Given the description of an element on the screen output the (x, y) to click on. 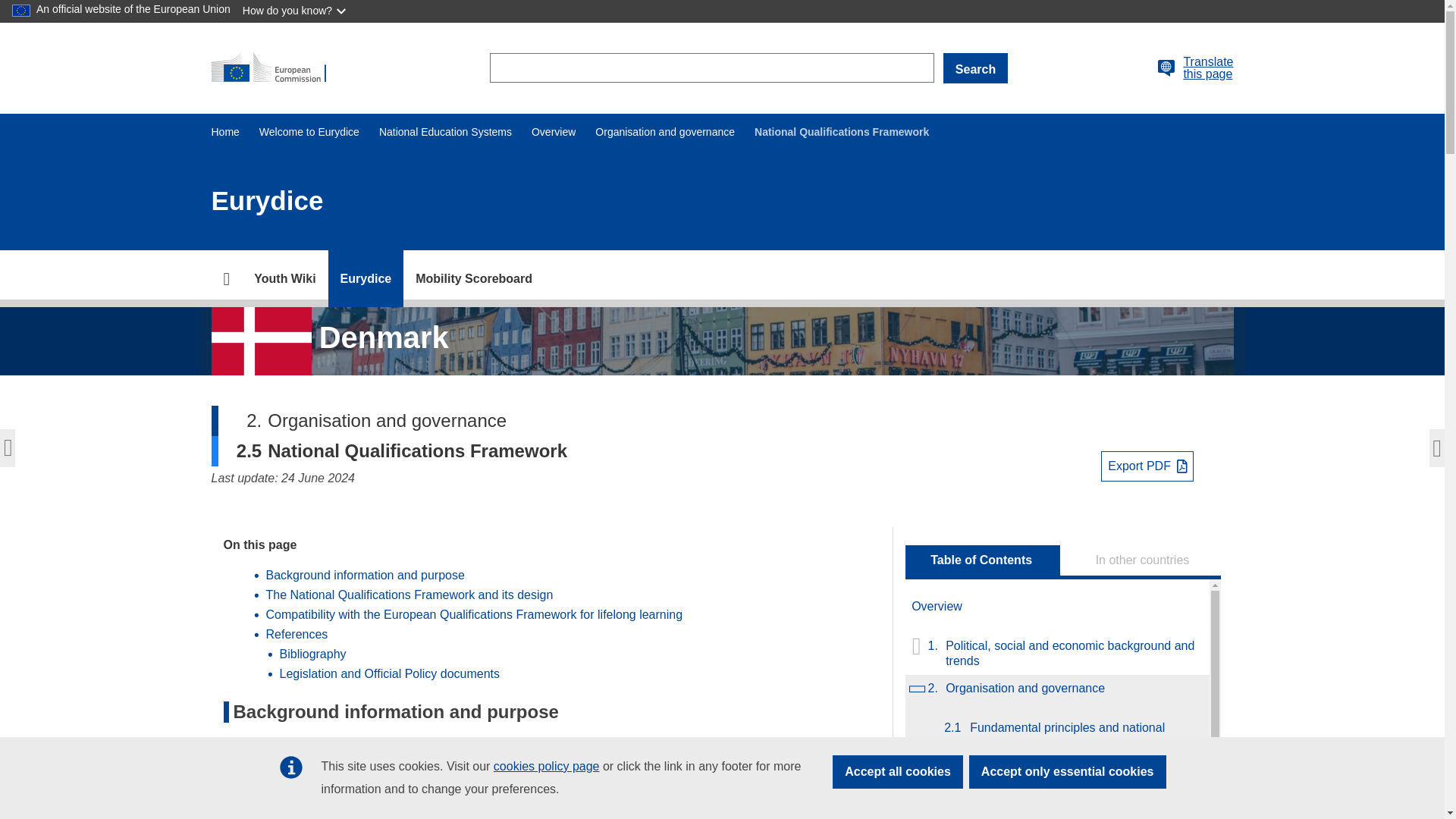
Welcome to Eurydice (309, 132)
cookies policy page (546, 766)
Accept all cookies (897, 771)
European Commission (275, 67)
National Policies Platform (284, 278)
Eurydice (366, 278)
Mobility Scoreboard (473, 278)
Youth Wiki (284, 278)
Organisation and governance (665, 132)
Overview (553, 132)
